Given the description of an element on the screen output the (x, y) to click on. 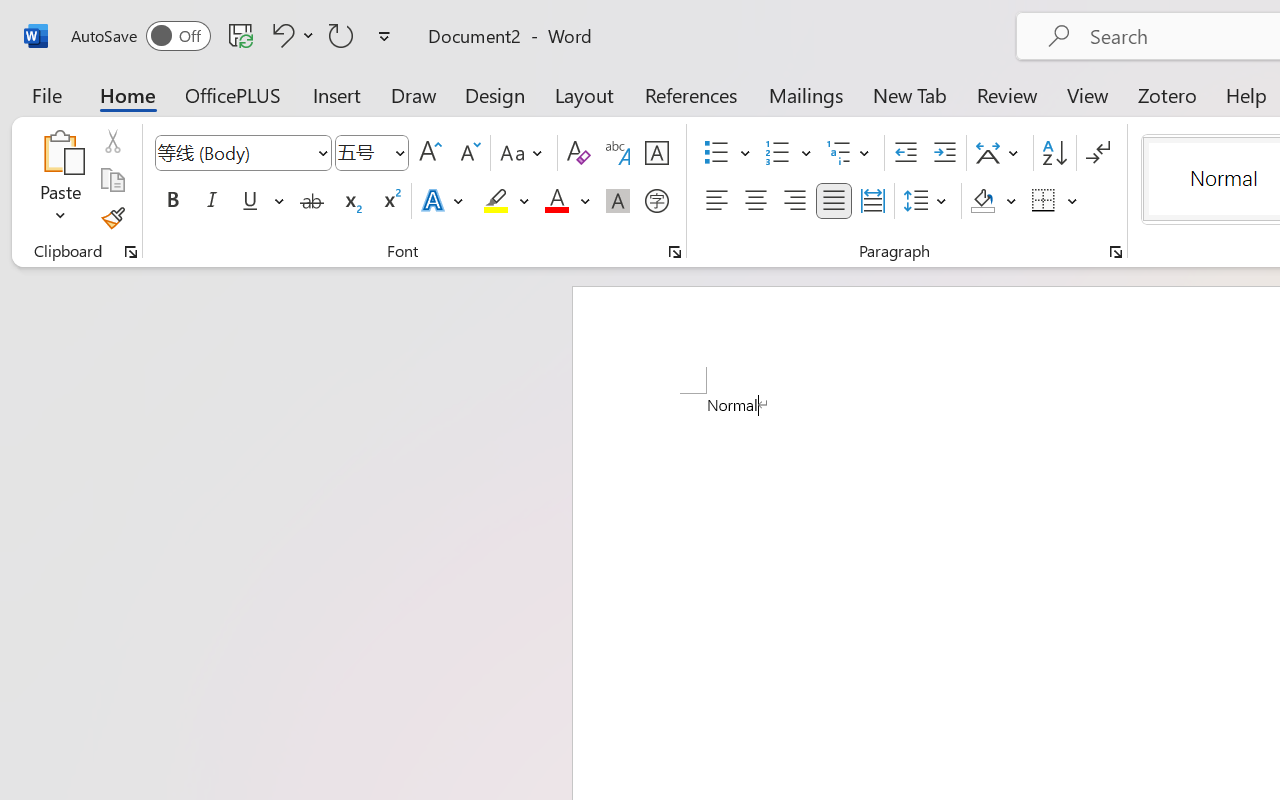
Sort... (1054, 153)
Borders (1055, 201)
Font Size (362, 152)
Mailings (806, 94)
Font Size (372, 153)
Italic (212, 201)
Shading RGB(0, 0, 0) (982, 201)
View (1087, 94)
Draw (413, 94)
AutoSave (140, 35)
Underline (261, 201)
OfficePLUS (233, 94)
Format Painter (112, 218)
Bullets (716, 153)
Numbering (788, 153)
